Given the description of an element on the screen output the (x, y) to click on. 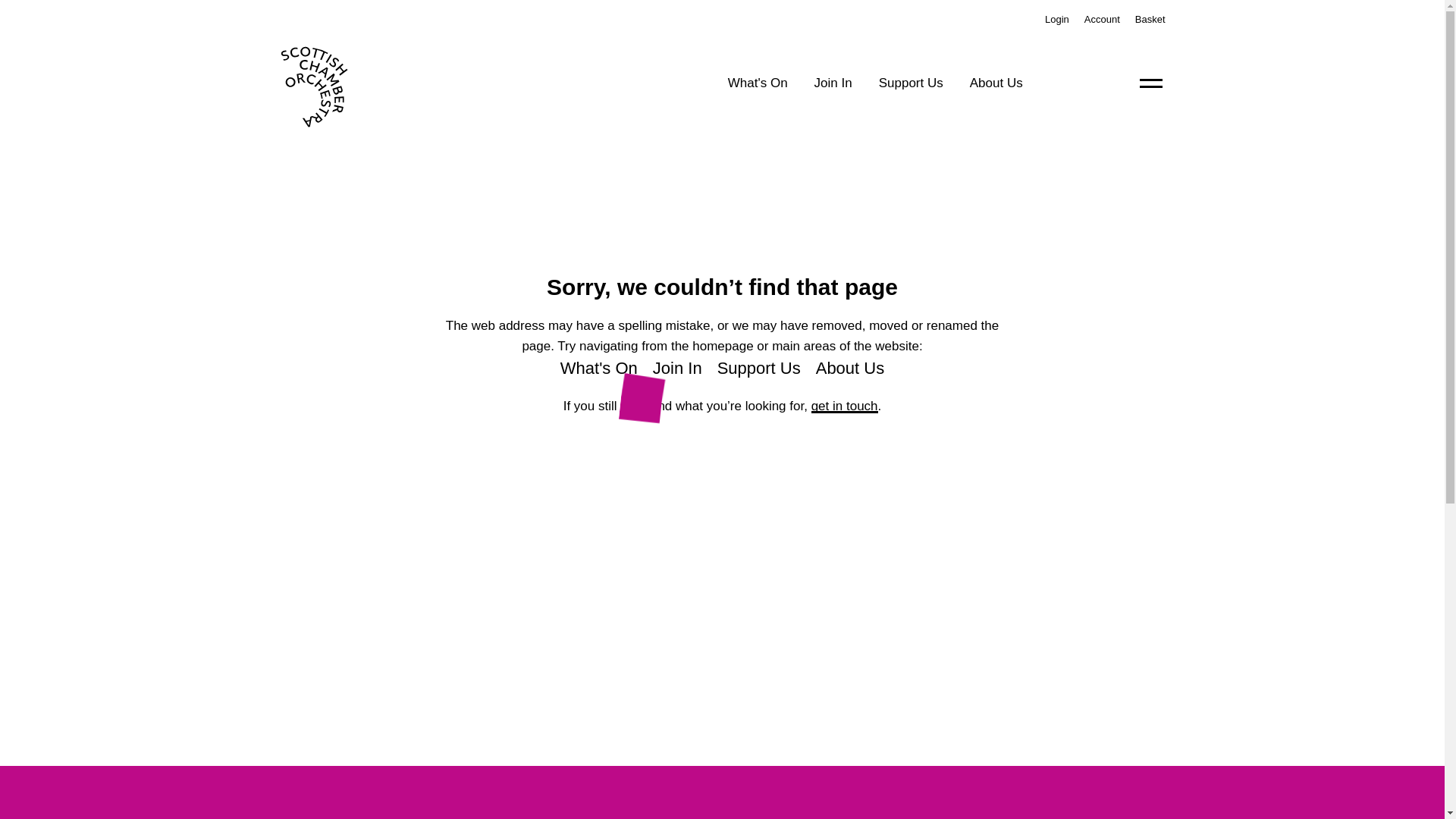
Support Us (911, 83)
Account (1101, 19)
Join In (676, 367)
About Us (850, 367)
get in touch (843, 405)
Support Us (758, 367)
About Us (996, 83)
Scottish Chamber Orchestra (353, 82)
Login (1056, 19)
Join In (832, 83)
